Given the description of an element on the screen output the (x, y) to click on. 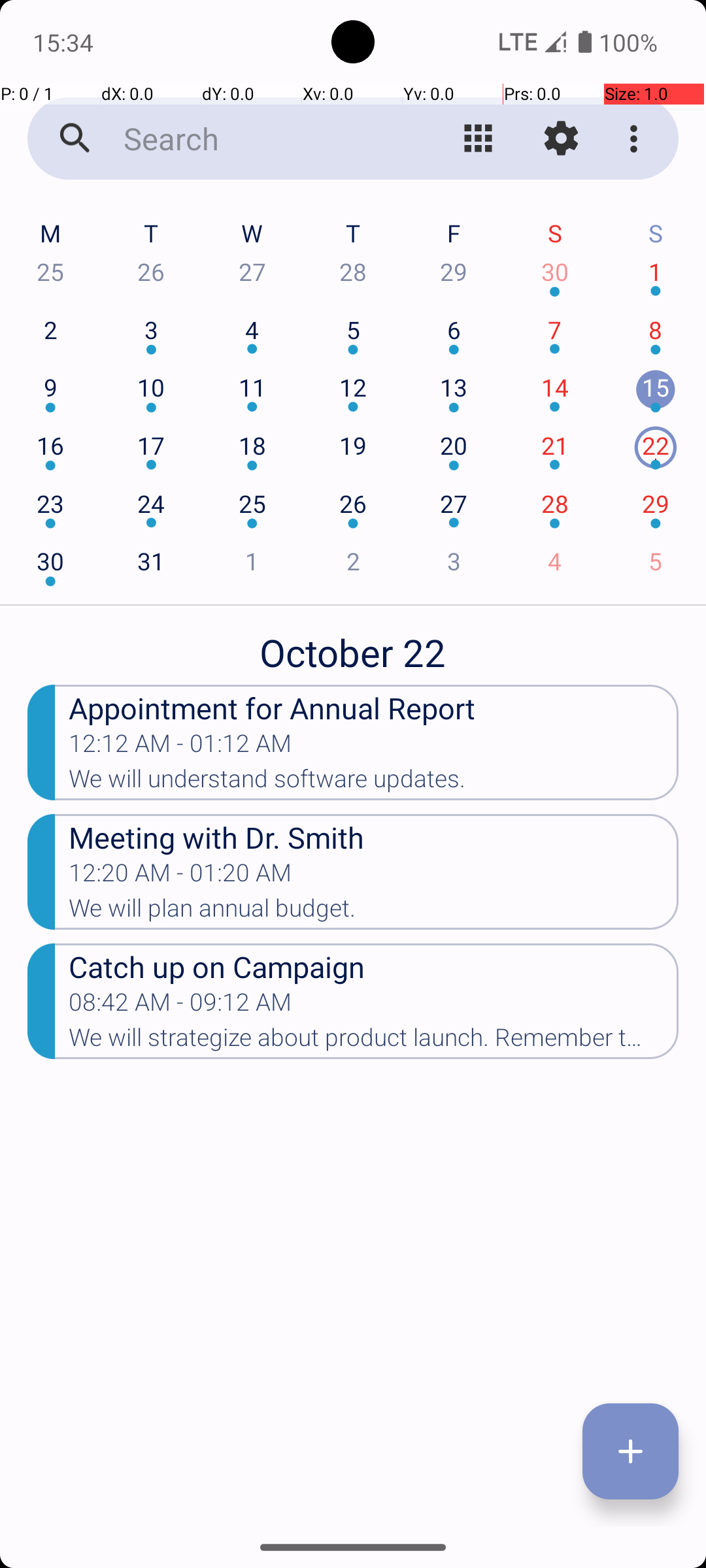
October 22 Element type: android.widget.TextView (352, 644)
12:12 AM - 01:12 AM Element type: android.widget.TextView (179, 747)
We will understand software updates. Element type: android.widget.TextView (373, 782)
12:20 AM - 01:20 AM Element type: android.widget.TextView (179, 876)
We will plan annual budget. Element type: android.widget.TextView (373, 911)
08:42 AM - 09:12 AM Element type: android.widget.TextView (179, 1005)
We will strategize about product launch. Remember to confirm attendance. Element type: android.widget.TextView (373, 1041)
